Given the description of an element on the screen output the (x, y) to click on. 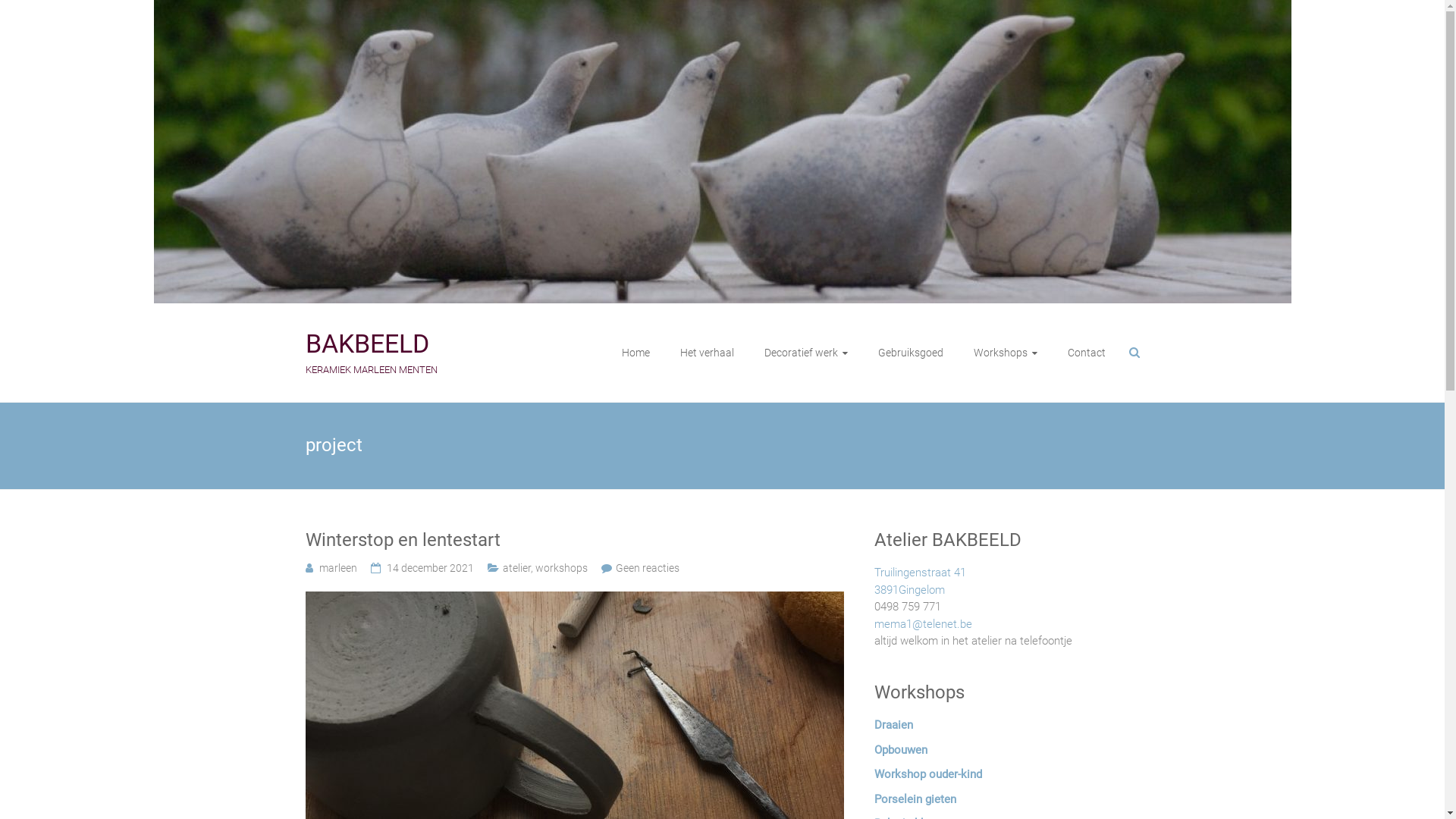
Opbouwen Element type: text (899, 749)
Winterstop en lentestart Element type: text (573, 540)
marleen Element type: text (337, 567)
Draaien Element type: text (892, 724)
Workshops Element type: text (1005, 352)
workshops Element type: text (561, 567)
Winterstop en lentestart Element type: hover (573, 599)
Contact Element type: text (1086, 352)
Porselein gieten Element type: text (914, 799)
14 december 2021 Element type: text (429, 567)
Workshop ouder-kind Element type: text (927, 774)
Truilingenstraat 41
3891Gingelom Element type: text (919, 580)
mema1@telenet.be Element type: text (922, 623)
Home Element type: text (635, 352)
Het verhaal Element type: text (706, 352)
atelier Element type: text (516, 567)
BAKBEELD Element type: text (366, 343)
Geen reacties Element type: text (647, 567)
Gebruiksgoed Element type: text (910, 352)
Decoratief werk Element type: text (805, 352)
